Given the description of an element on the screen output the (x, y) to click on. 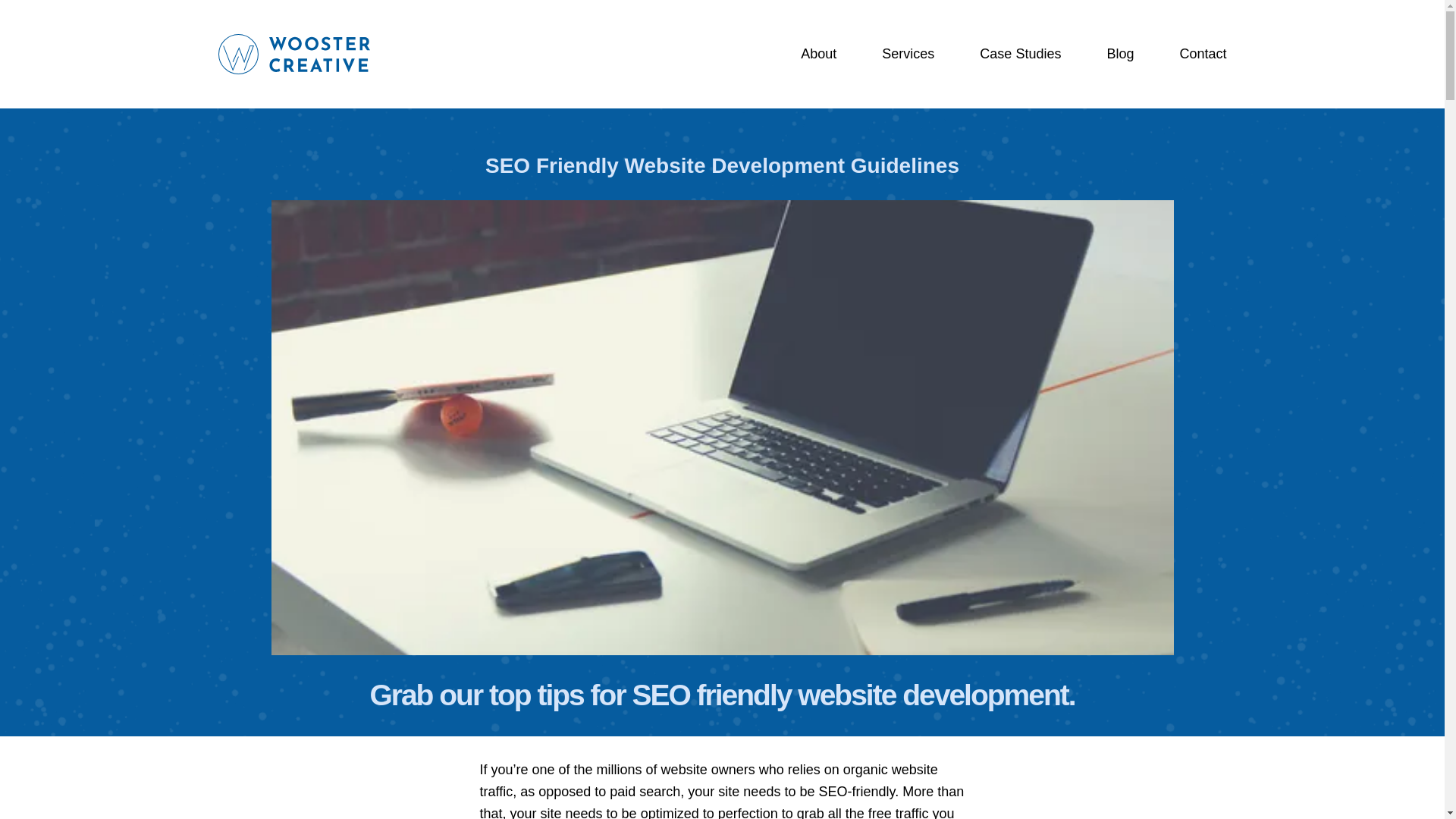
Case Studies (1020, 54)
Contact (1202, 54)
Services (908, 54)
About (817, 54)
Blog (1120, 54)
